Given the description of an element on the screen output the (x, y) to click on. 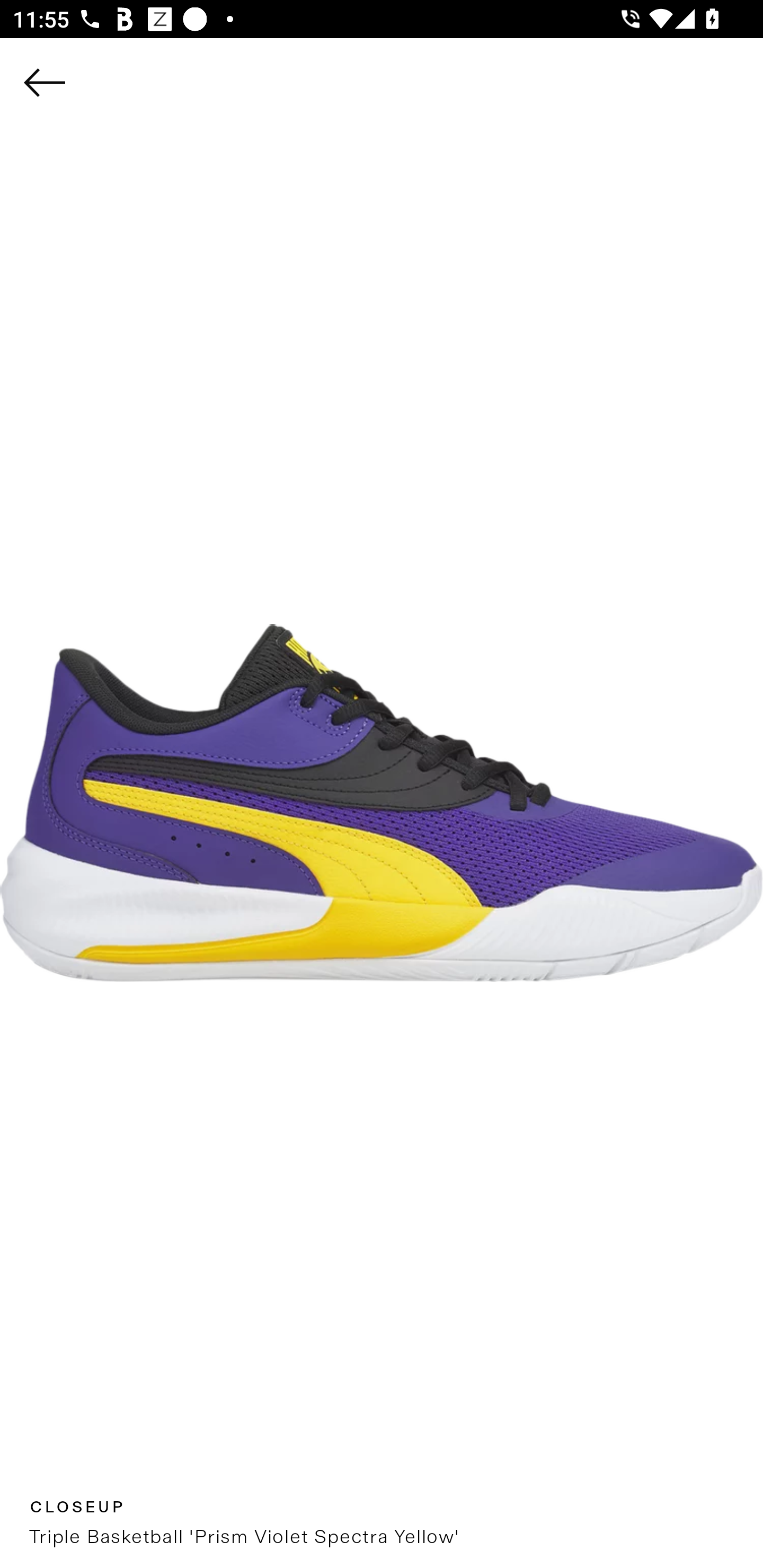
Navigate up (44, 82)
